Given the description of an element on the screen output the (x, y) to click on. 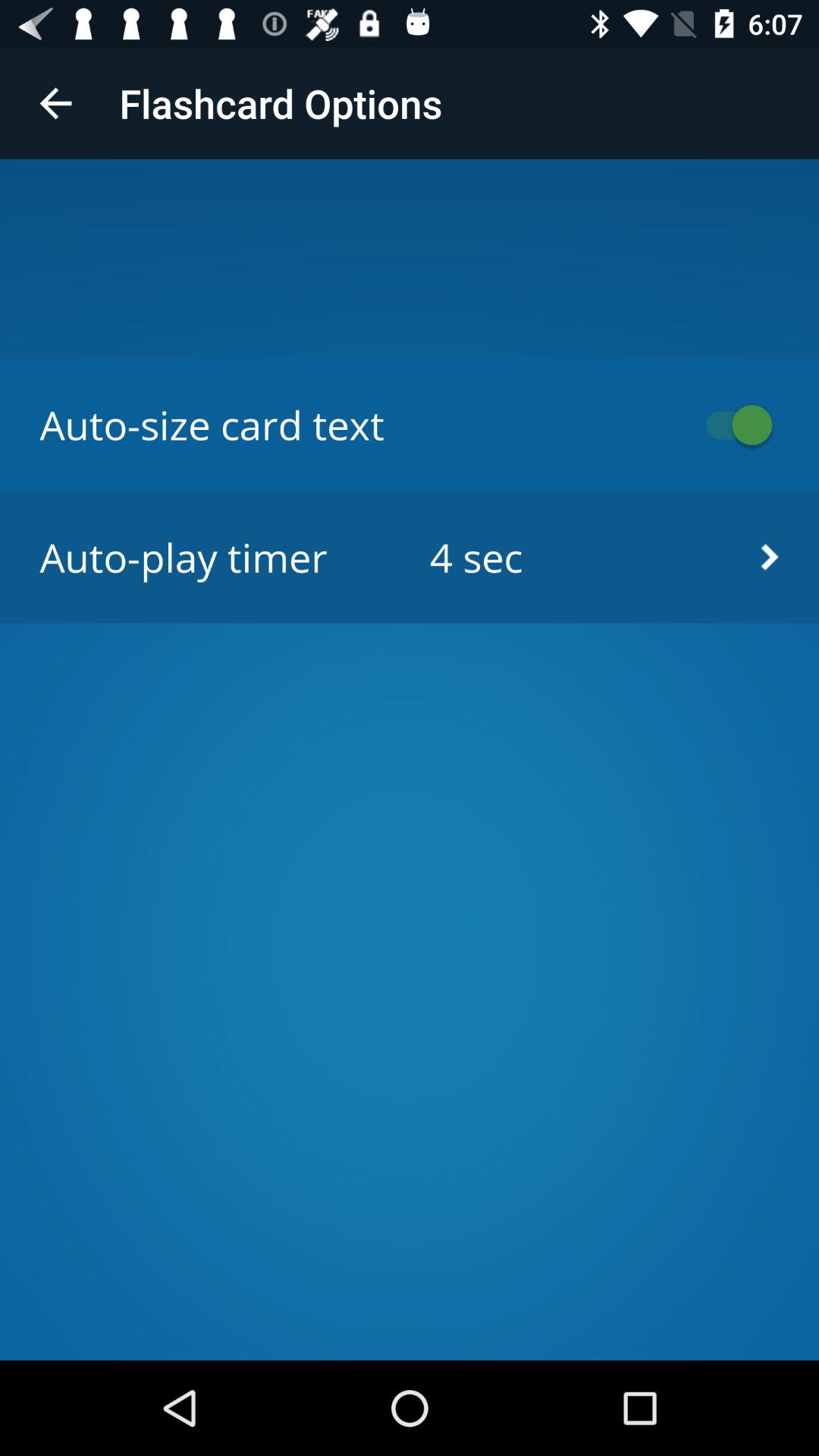
select icon to the left of the flashcard options (55, 103)
